Given the description of an element on the screen output the (x, y) to click on. 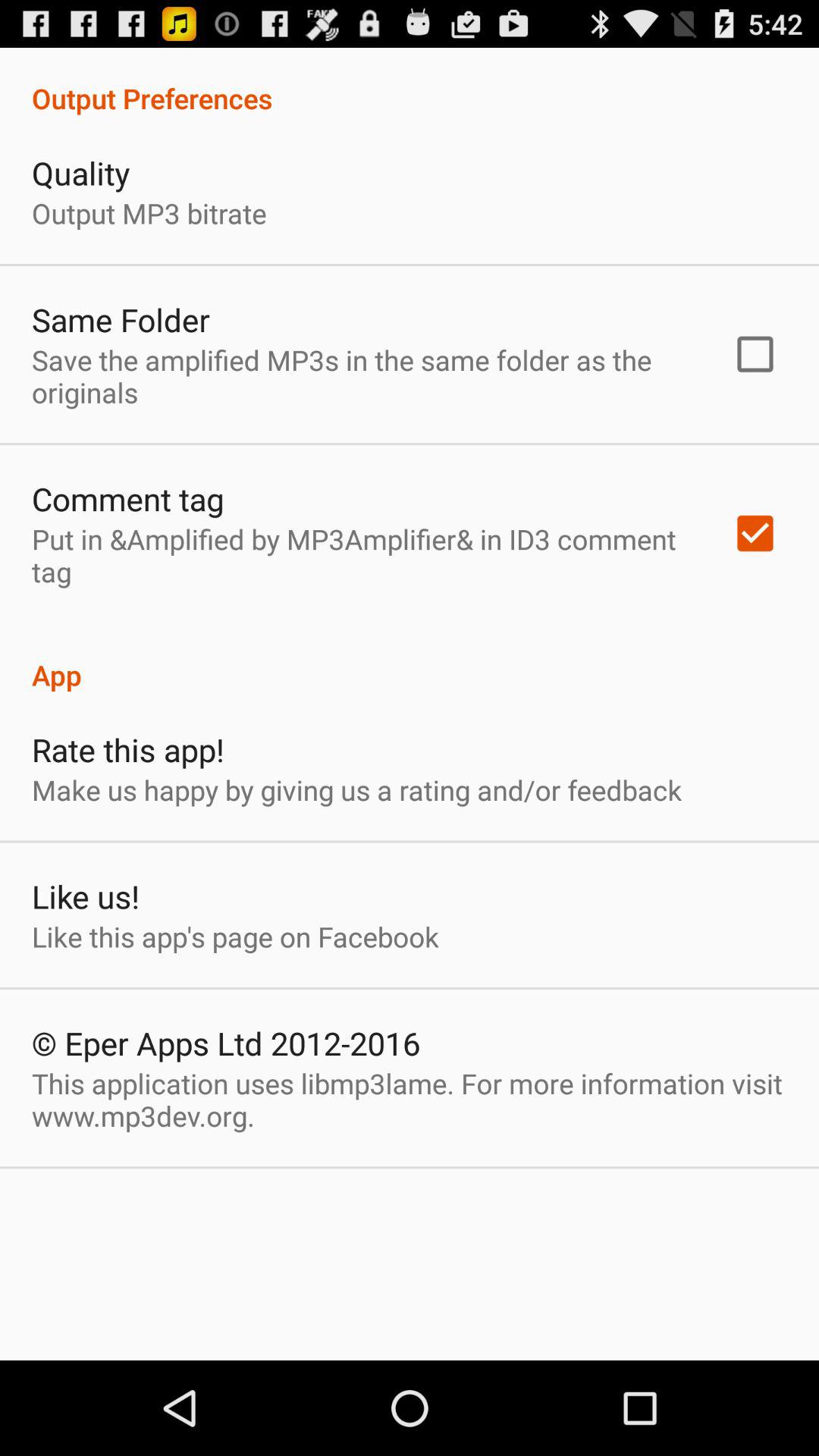
press quality item (80, 172)
